Given the description of an element on the screen output the (x, y) to click on. 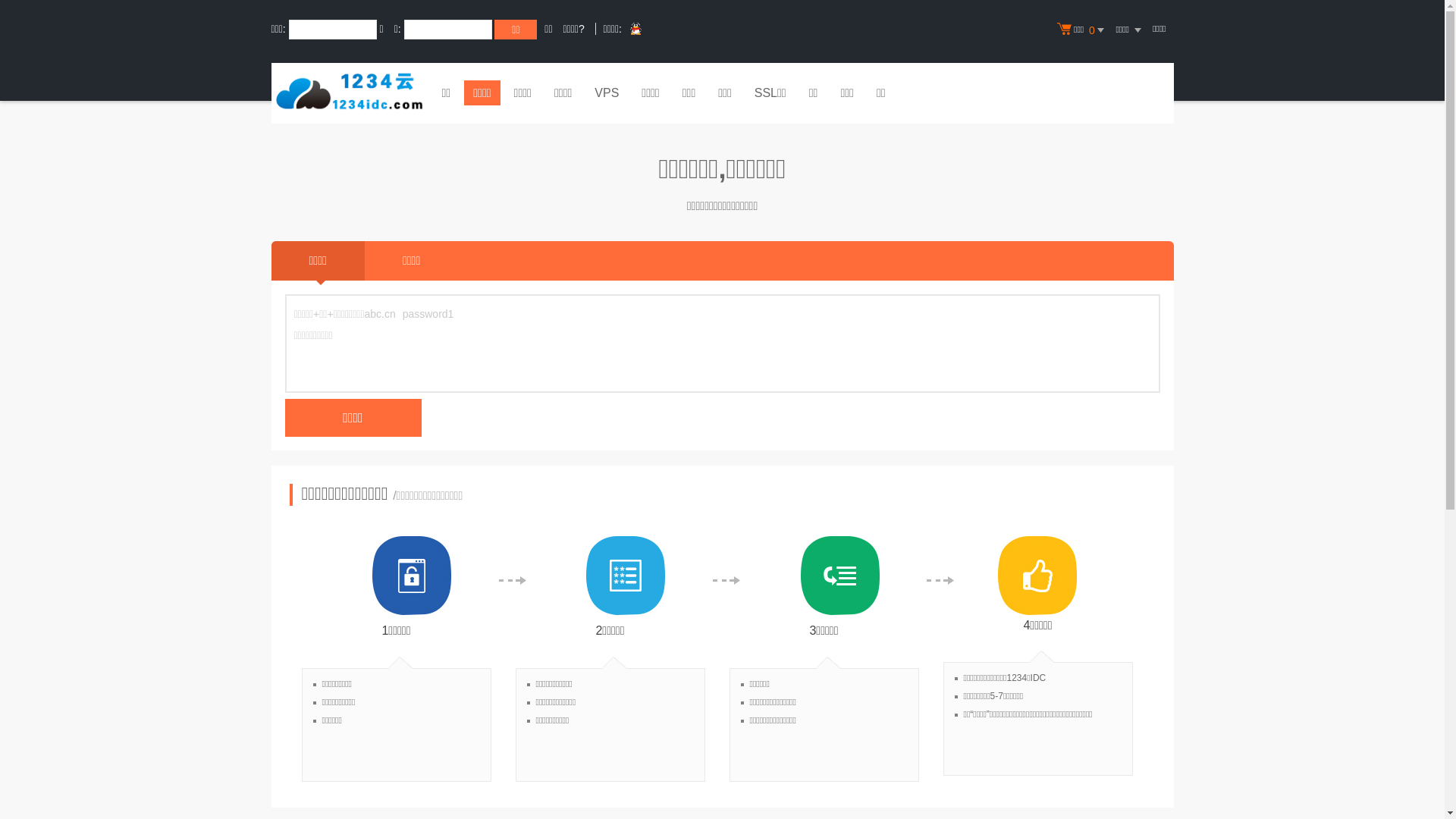
VPS Element type: text (606, 94)
